Given the description of an element on the screen output the (x, y) to click on. 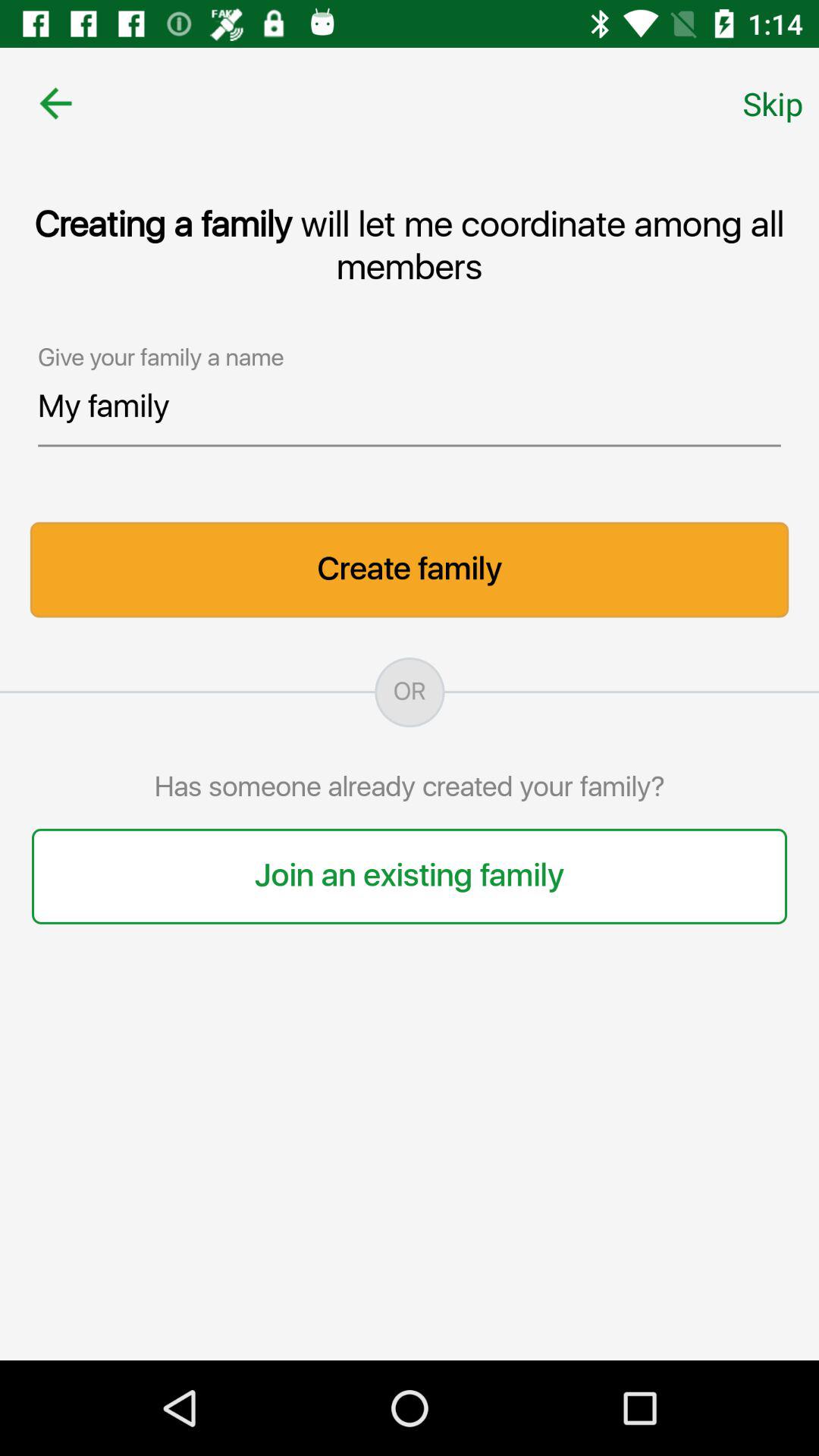
click create family icon (409, 569)
